Given the description of an element on the screen output the (x, y) to click on. 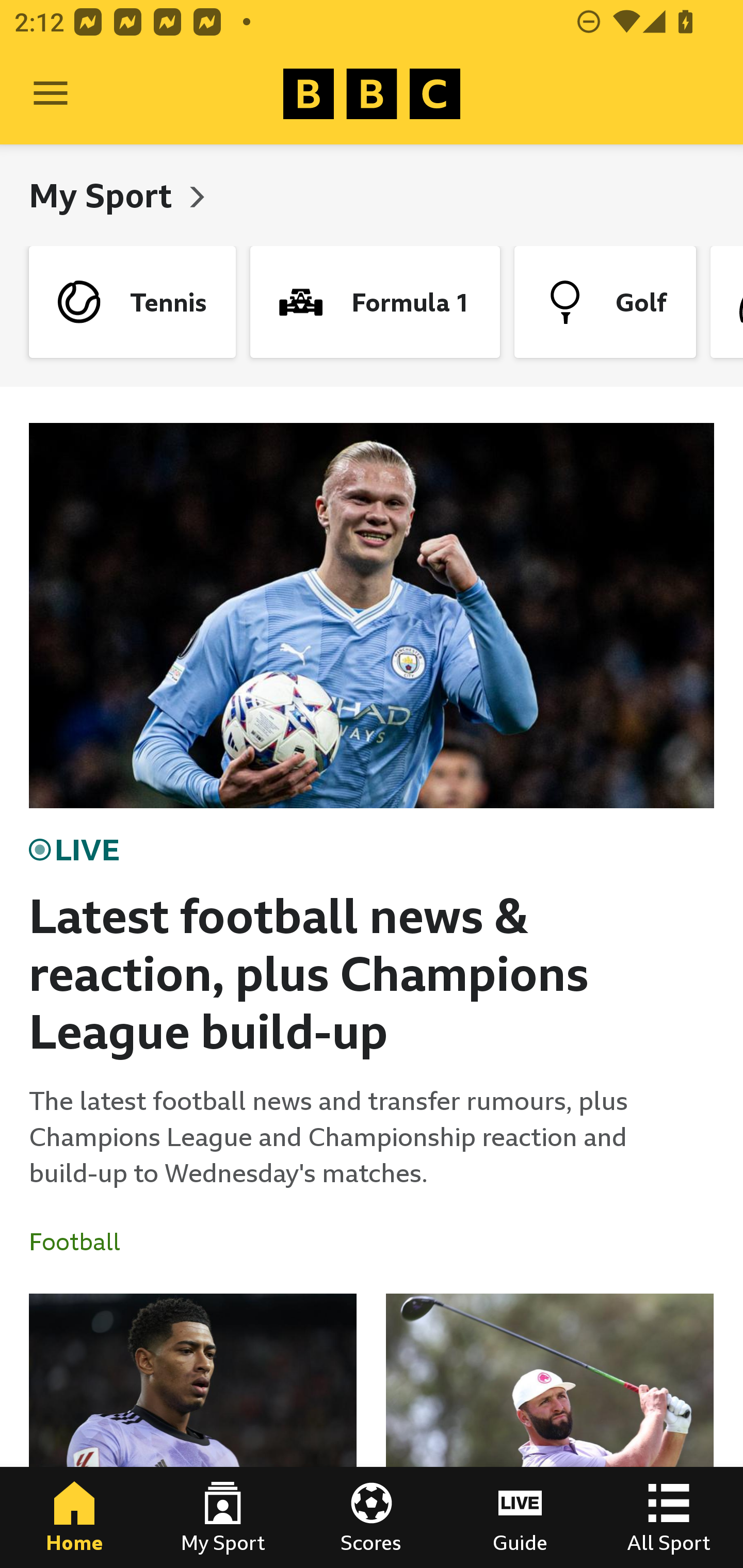
Open Menu (50, 93)
My Sport (104, 195)
Football In the section Football (81, 1241)
Real midfielder Bellingham banned for two games (192, 1430)
My Sport (222, 1517)
Scores (371, 1517)
Guide (519, 1517)
All Sport (668, 1517)
